Given the description of an element on the screen output the (x, y) to click on. 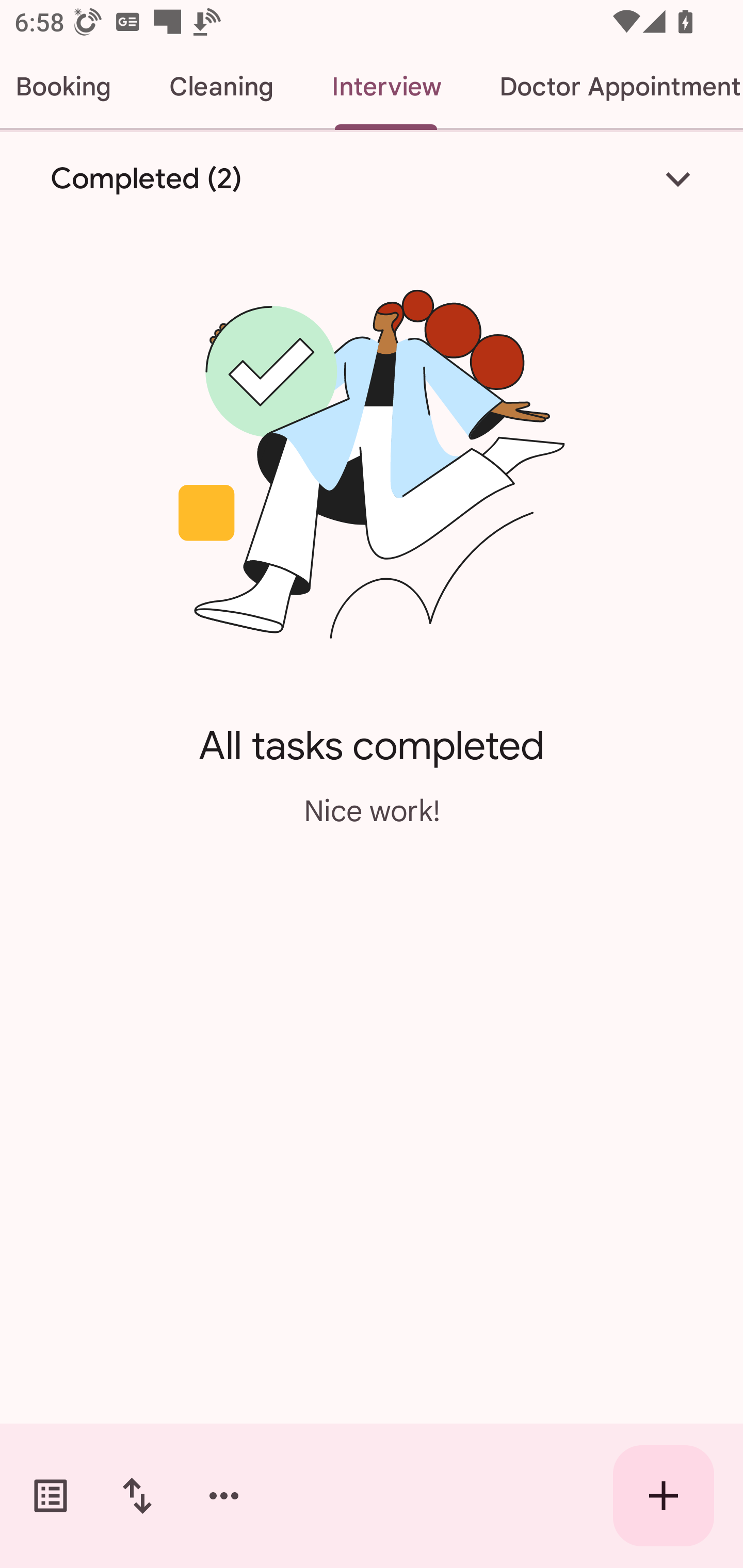
Hotel Booking (69, 86)
Cleaning (220, 86)
Doctor Appointment (606, 86)
Completed (2) (371, 178)
Switch task lists (50, 1495)
Create new task (663, 1495)
Change sort order (136, 1495)
More options (223, 1495)
